Given the description of an element on the screen output the (x, y) to click on. 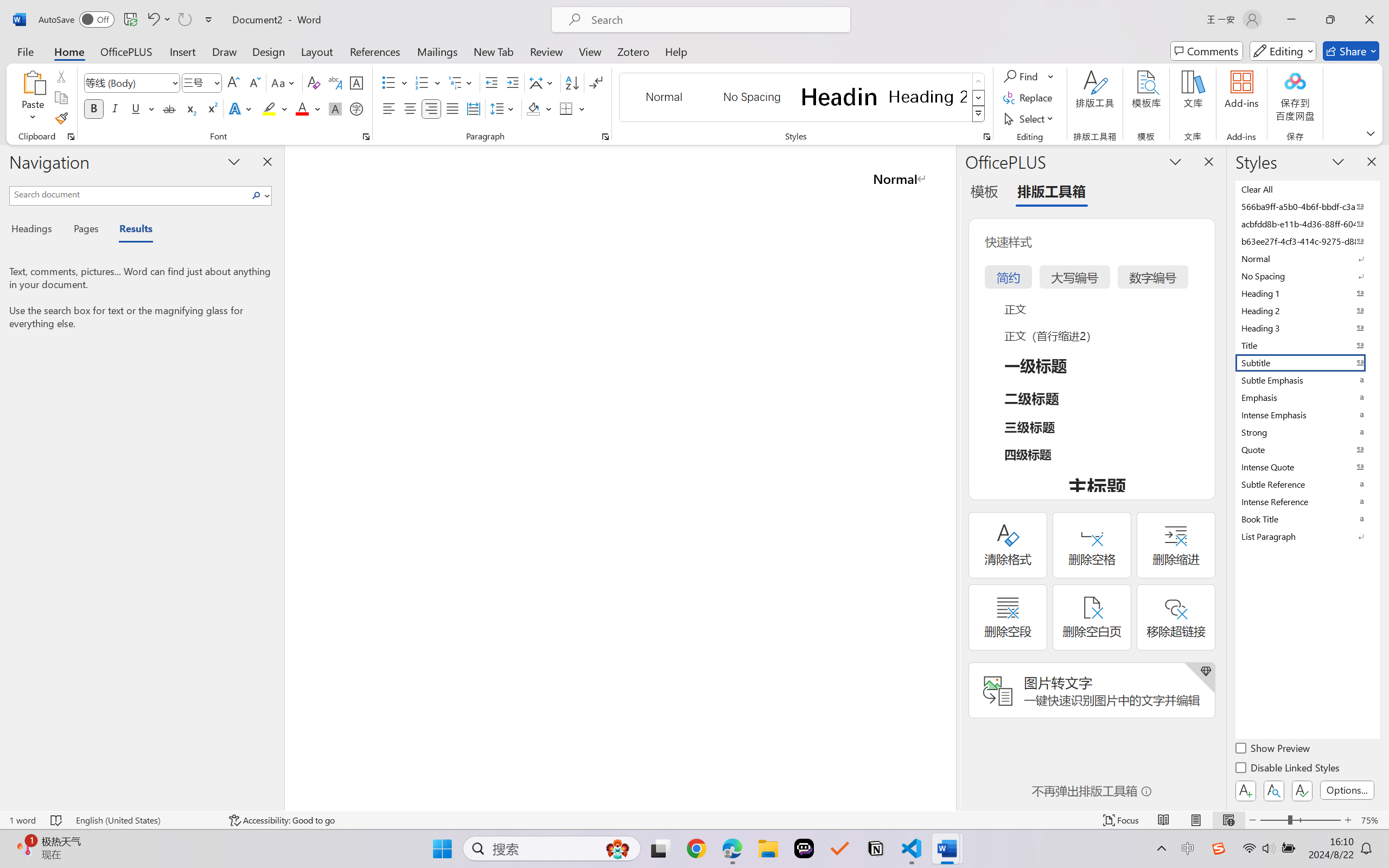
Emphasis (1306, 397)
Intense Emphasis (1306, 414)
Spelling and Grammar Check No Errors (56, 819)
Read Mode (1163, 819)
Headings (35, 229)
Shading RGB(0, 0, 0) (533, 108)
Copy (60, 97)
Search (259, 195)
Class: MsoCommandBar (694, 819)
Subtle Reference (1306, 484)
